Given the description of an element on the screen output the (x, y) to click on. 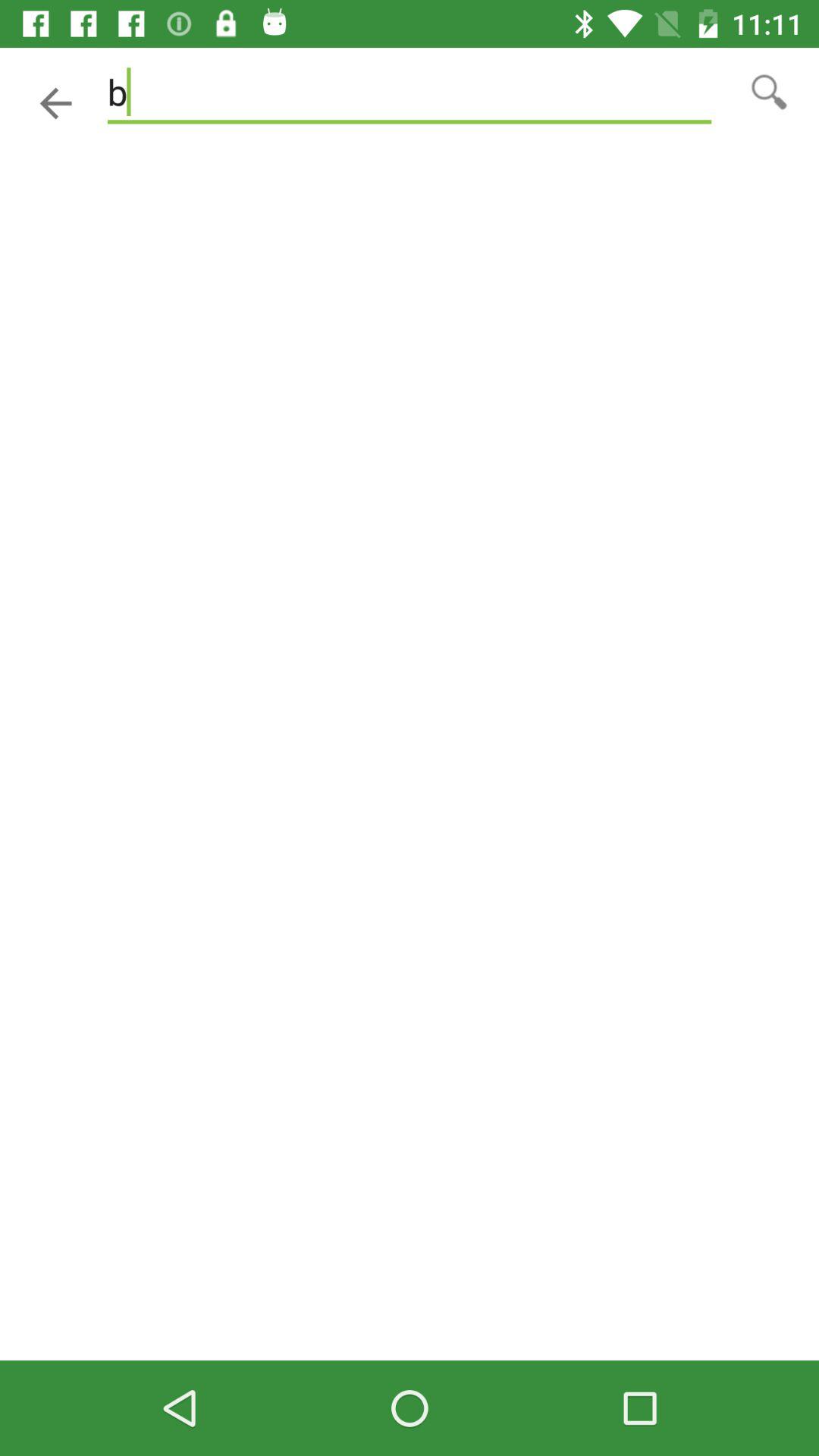
go back (55, 103)
